Given the description of an element on the screen output the (x, y) to click on. 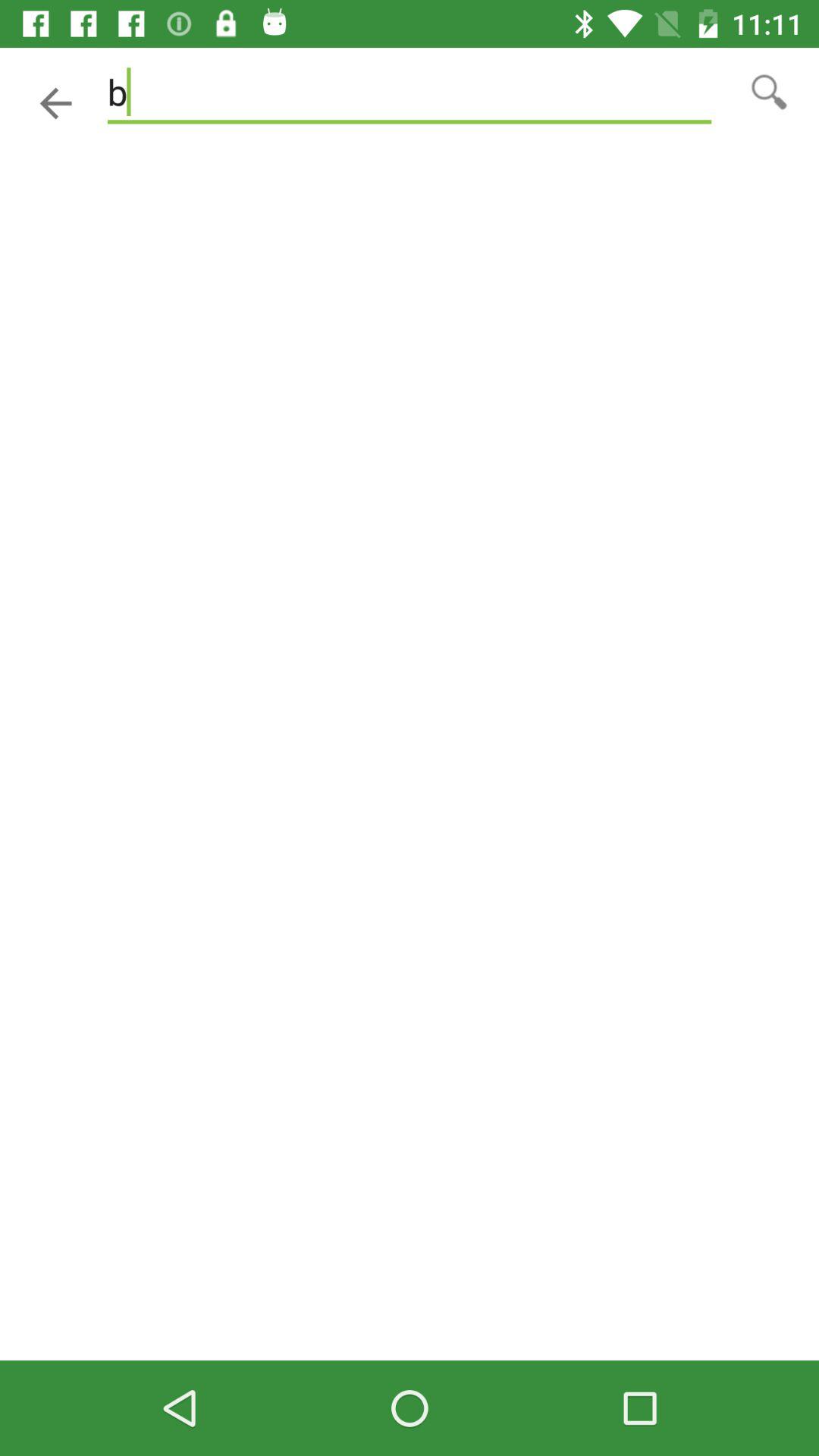
go back (55, 103)
